Given the description of an element on the screen output the (x, y) to click on. 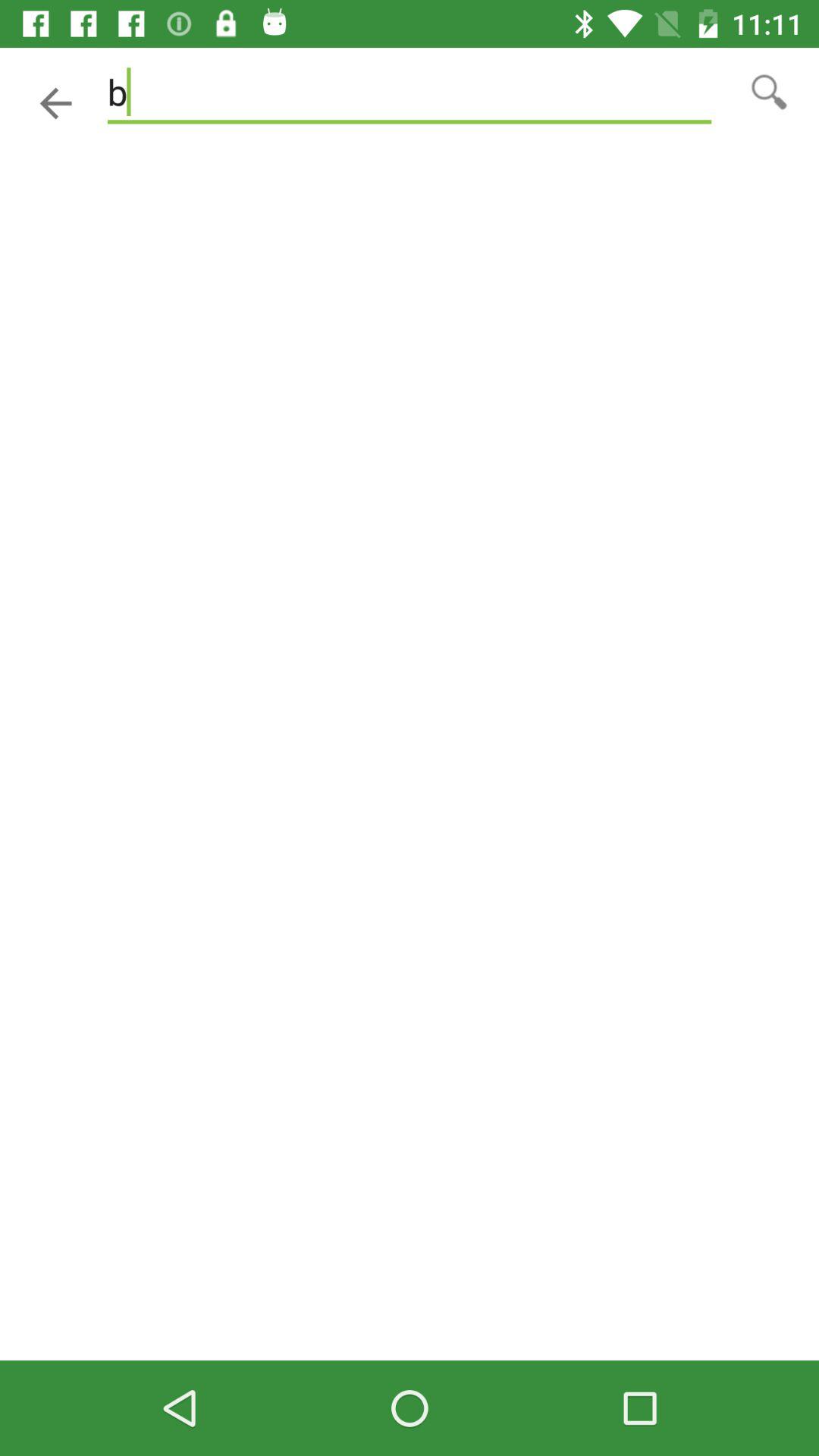
go back (55, 103)
